Given the description of an element on the screen output the (x, y) to click on. 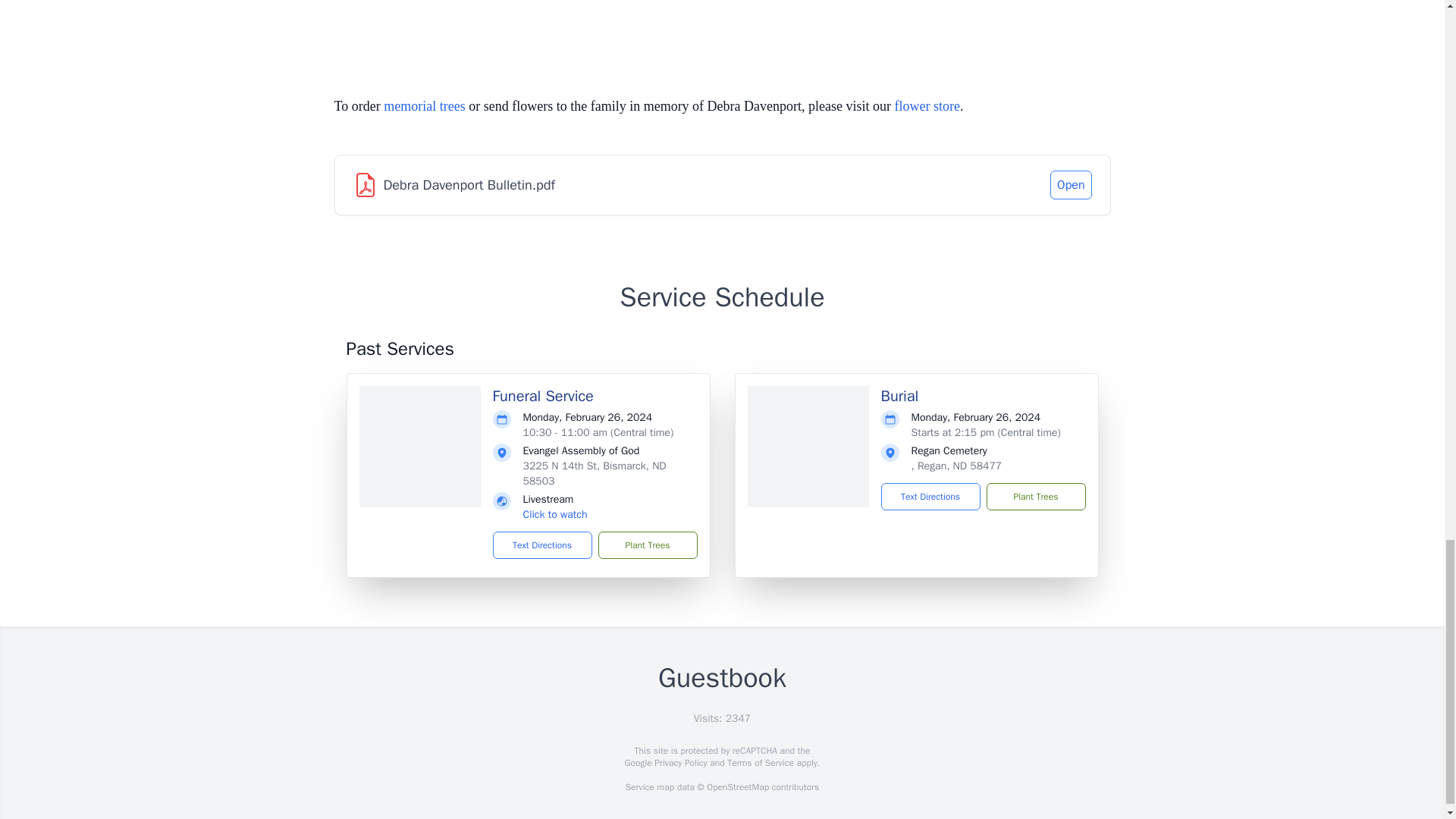
Text Directions (929, 496)
Text Directions (542, 544)
Terms of Service (759, 762)
Click to watch (555, 513)
flower store (927, 105)
OpenStreetMap (737, 787)
, Regan, ND 58477 (957, 465)
3225 N 14th St, Bismarck, ND 58503 (594, 473)
Open (1069, 184)
Privacy Policy (679, 762)
Plant Trees (646, 544)
Plant Trees (1034, 496)
memorial trees (424, 105)
